Given the description of an element on the screen output the (x, y) to click on. 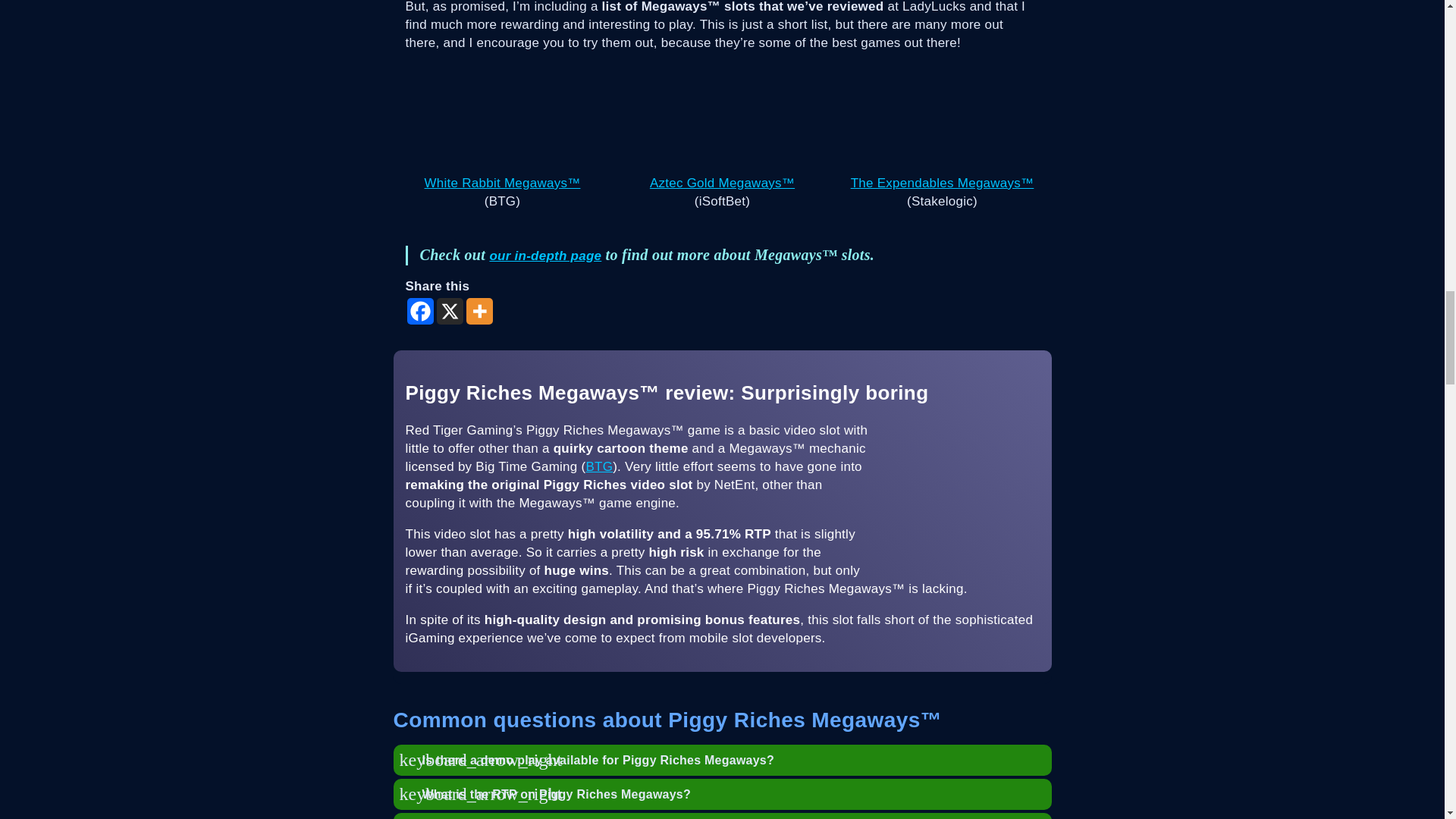
Facebook (419, 311)
More (478, 311)
our in-depth page (545, 255)
X (449, 311)
BTG (598, 466)
